Given the description of an element on the screen output the (x, y) to click on. 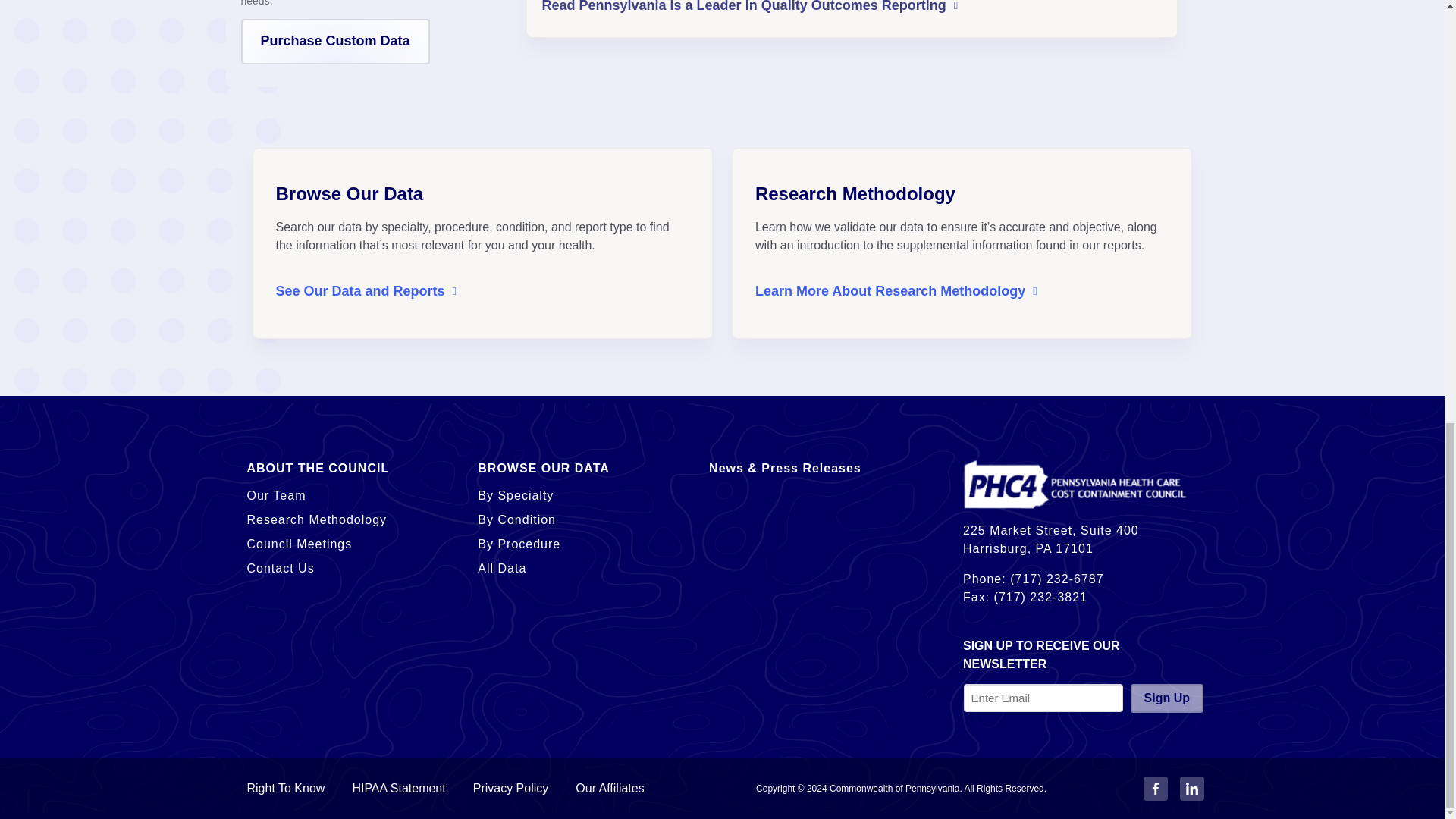
Sign Up (1167, 697)
Read Pennsylvania is a Leader in Quality Outcomes Reporting (749, 7)
